Given the description of an element on the screen output the (x, y) to click on. 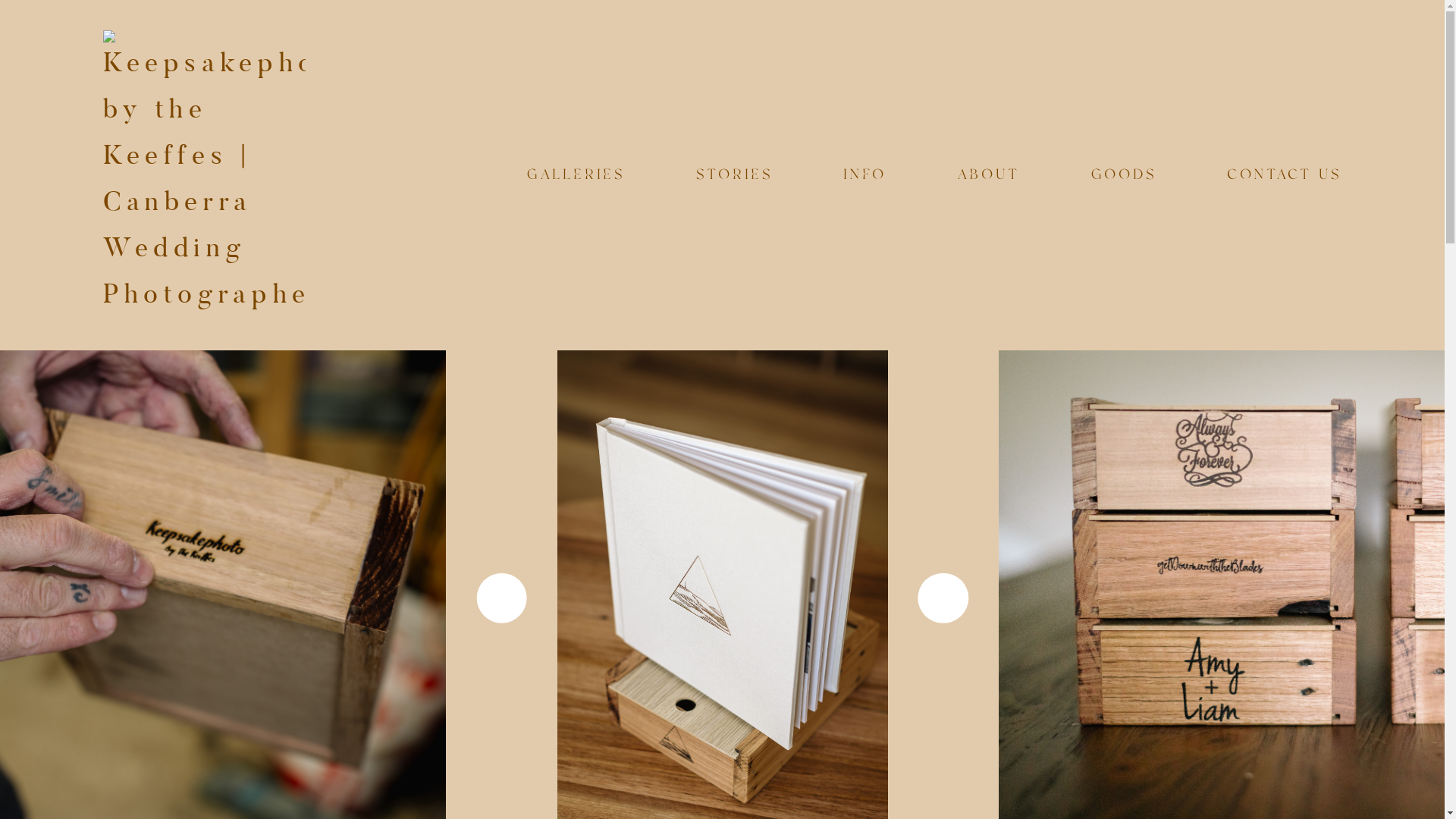
GALLERIES Element type: text (575, 175)
GOODS Element type: text (1123, 175)
ABOUT Element type: text (988, 175)
CONTACT US Element type: text (1283, 175)
INFO Element type: text (864, 175)
STORIES Element type: text (734, 175)
